Given the description of an element on the screen output the (x, y) to click on. 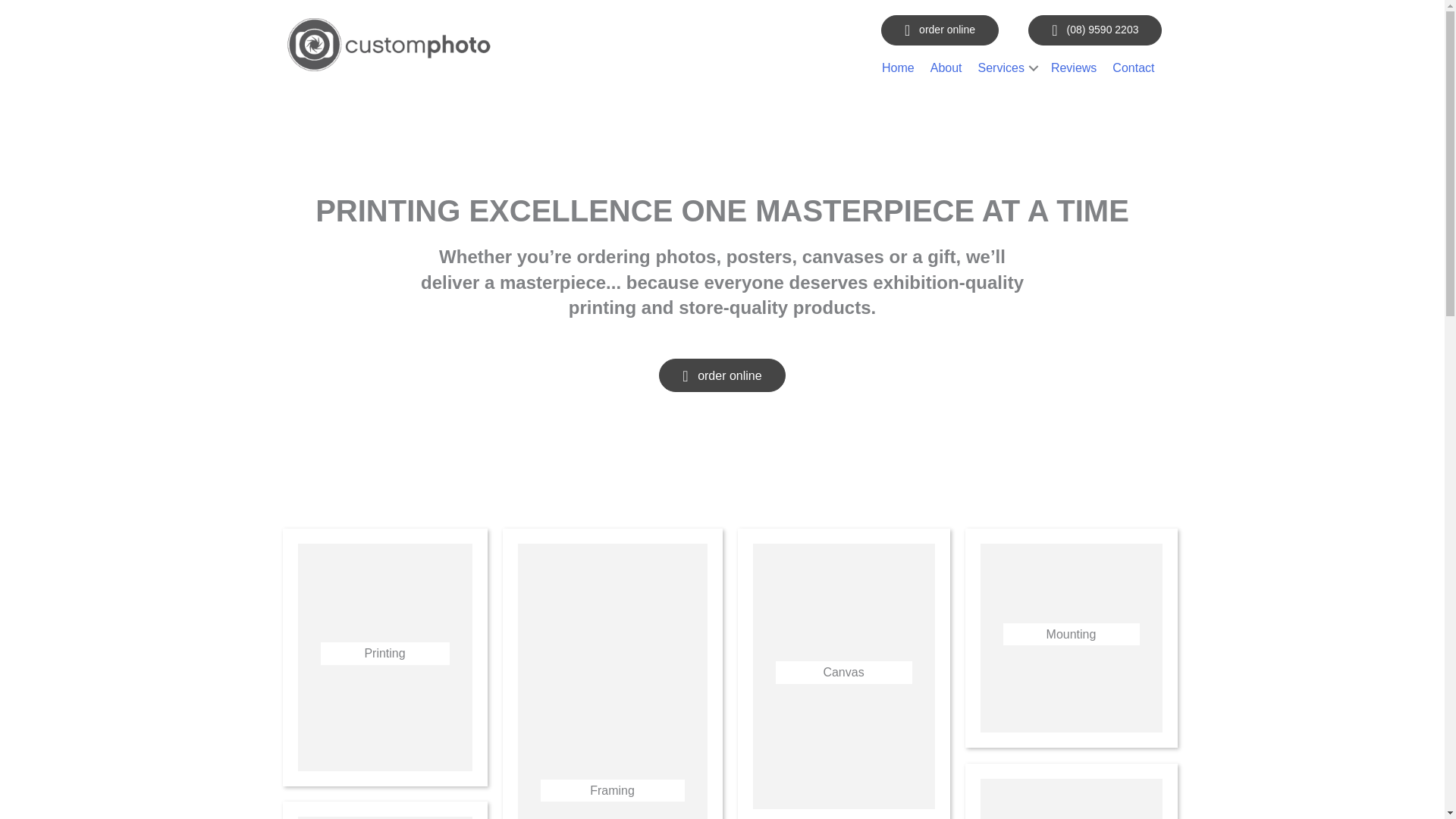
About (946, 67)
Contact (1133, 67)
Home (898, 67)
Reviews (1073, 67)
100 (388, 44)
Services (1006, 67)
order online (939, 30)
order online (721, 375)
